Given the description of an element on the screen output the (x, y) to click on. 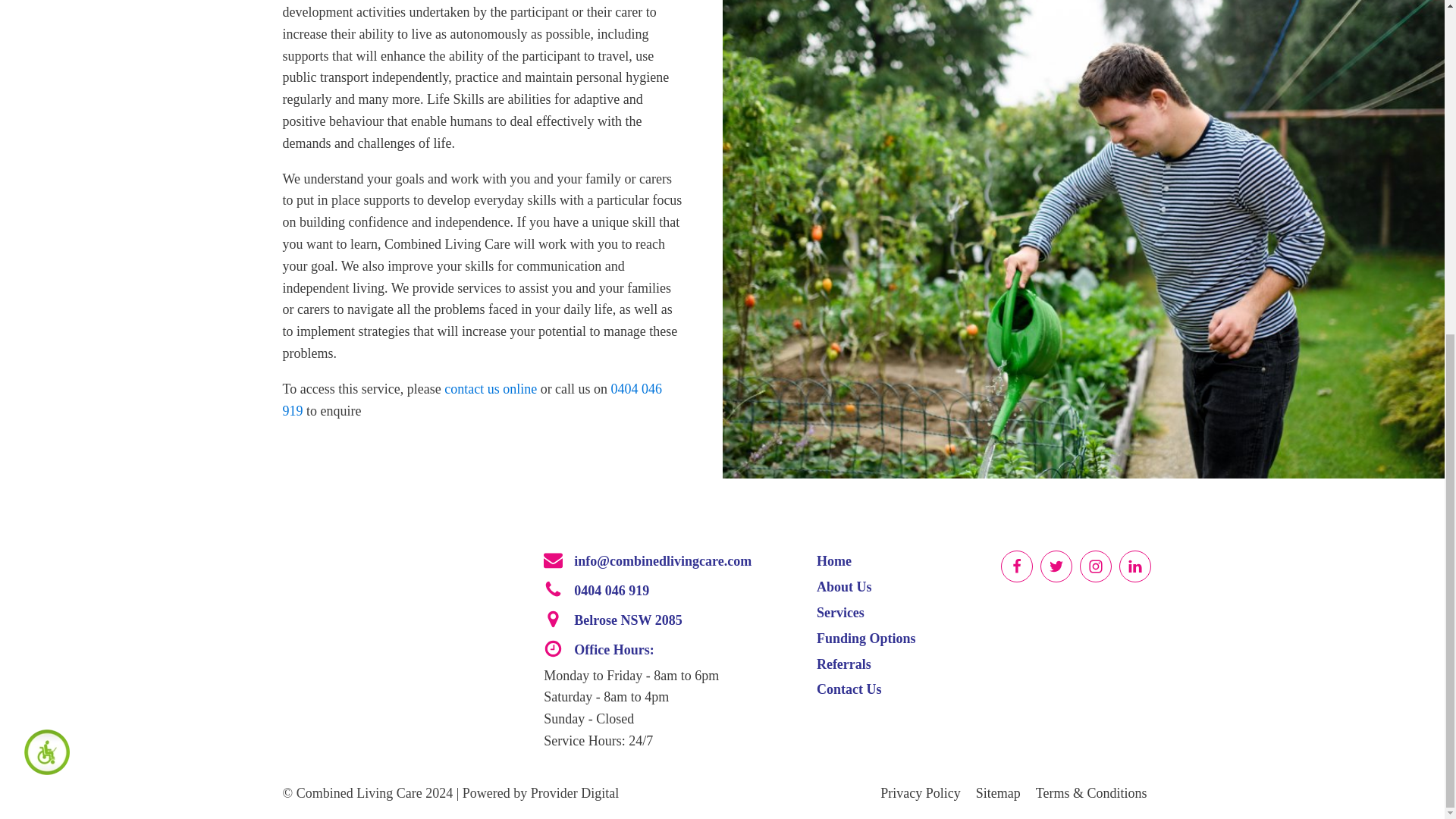
Accessibility Helper sidebar (42, 189)
